Given the description of an element on the screen output the (x, y) to click on. 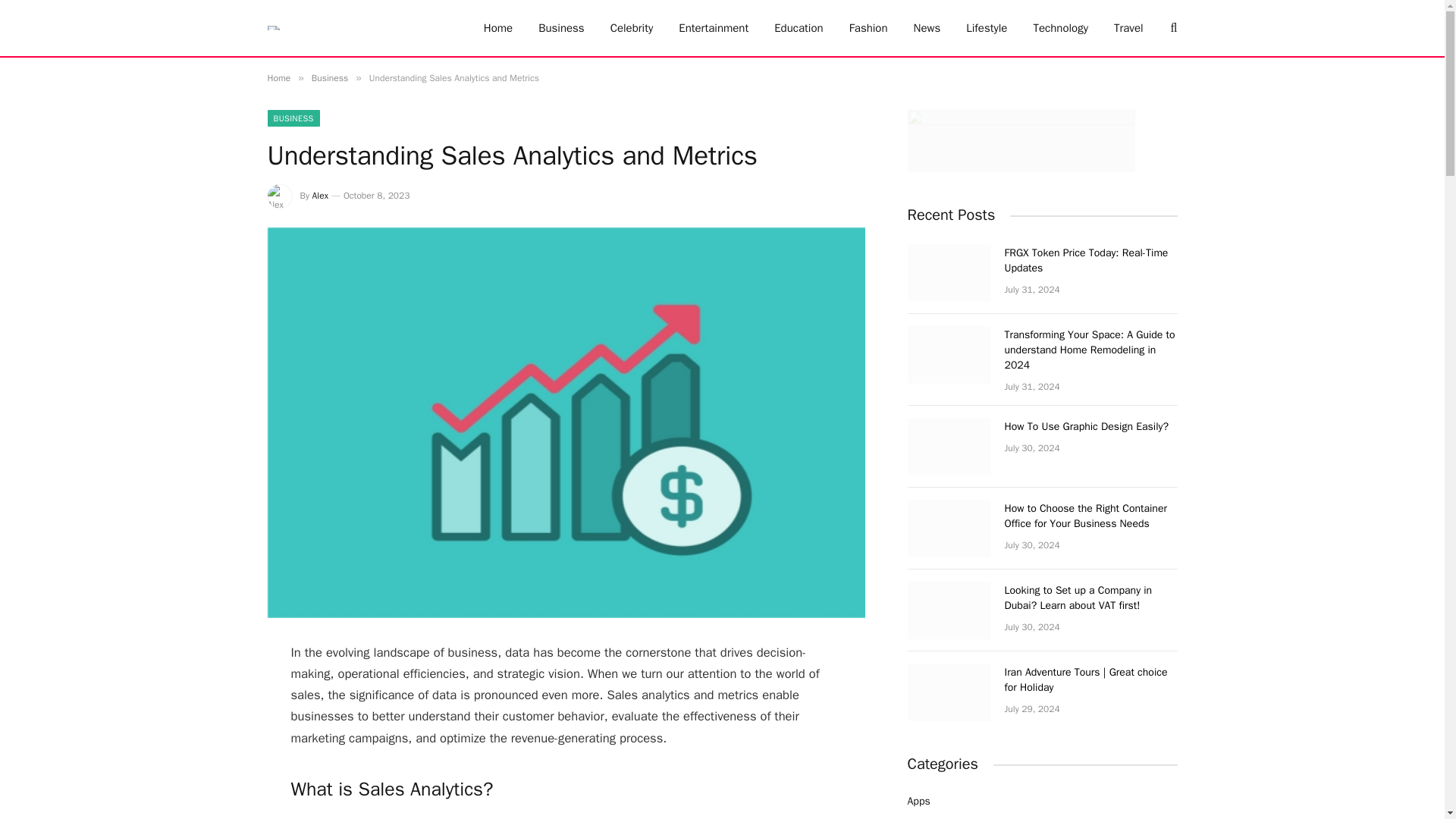
News (927, 28)
Fashion (868, 28)
Home (497, 28)
Celebrity (631, 28)
Business (560, 28)
Home (277, 78)
Lifestyle (986, 28)
Education (798, 28)
Travel (1128, 28)
Entertainment (713, 28)
Posts by Alex (321, 195)
Technology (1060, 28)
BUSINESS (292, 117)
Alex (321, 195)
